Given the description of an element on the screen output the (x, y) to click on. 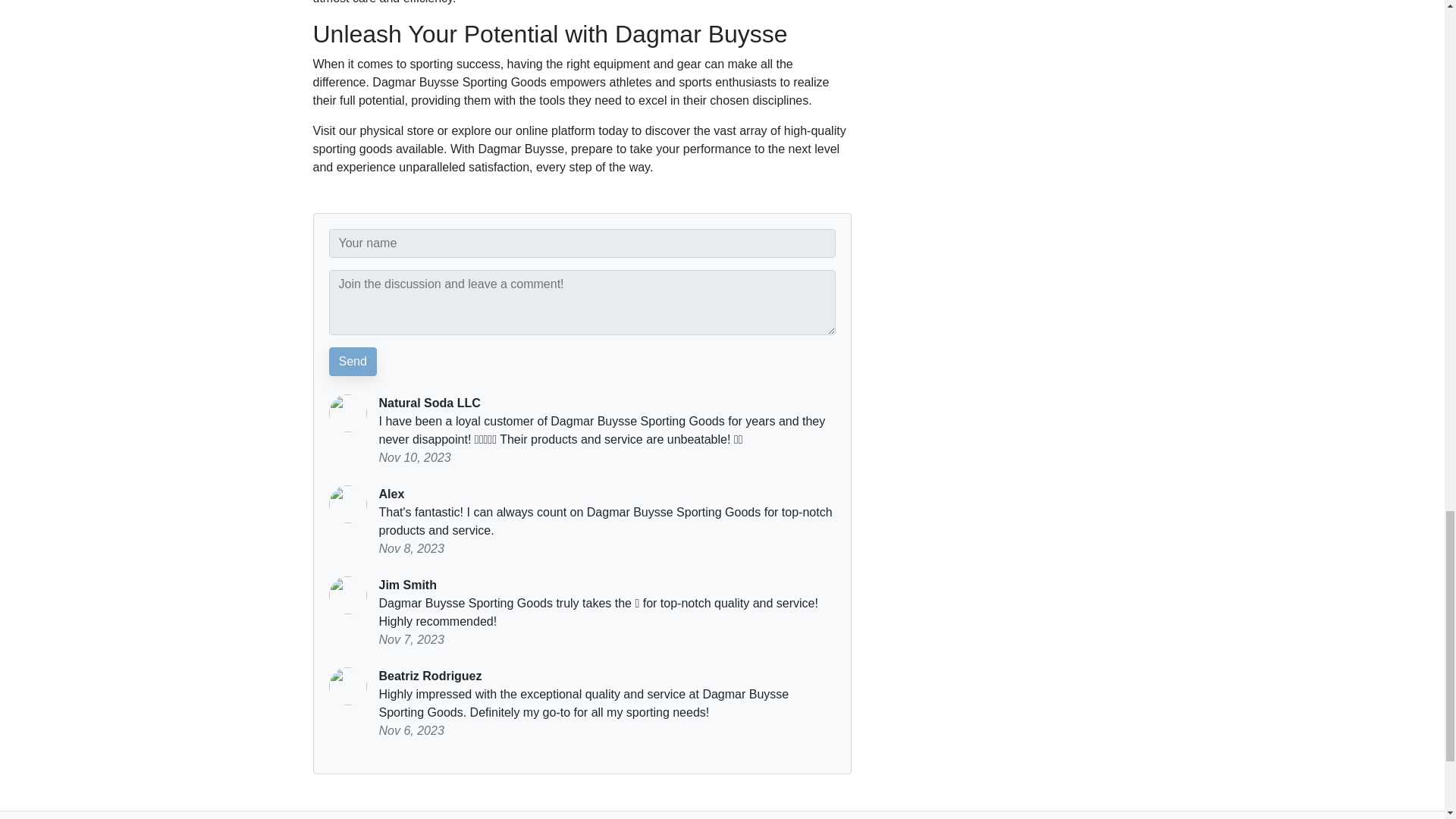
Send (353, 361)
Send (353, 361)
